Given the description of an element on the screen output the (x, y) to click on. 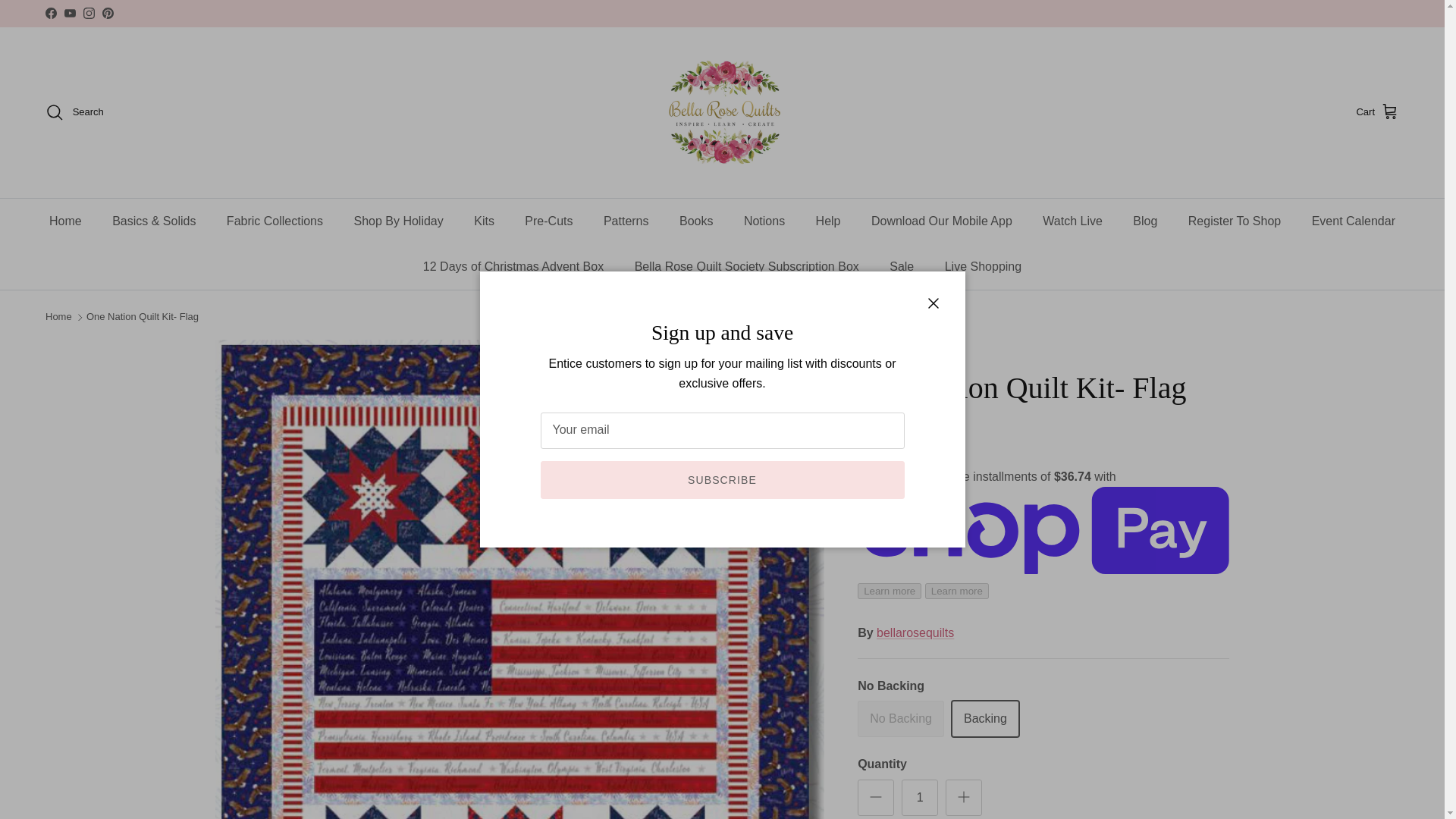
bellarosequilts on YouTube (69, 12)
YouTube (69, 12)
Fabric Collections (274, 221)
bellarosequilts on Facebook (50, 12)
Cart (1377, 112)
Search (74, 112)
bellarosequilts on Pinterest (107, 12)
1 (919, 797)
Facebook (50, 12)
Sold out (900, 719)
Pinterest (107, 12)
bellarosequilts (722, 112)
Home (65, 221)
bellarosequilts on Instagram (88, 12)
Instagram (88, 12)
